Given the description of an element on the screen output the (x, y) to click on. 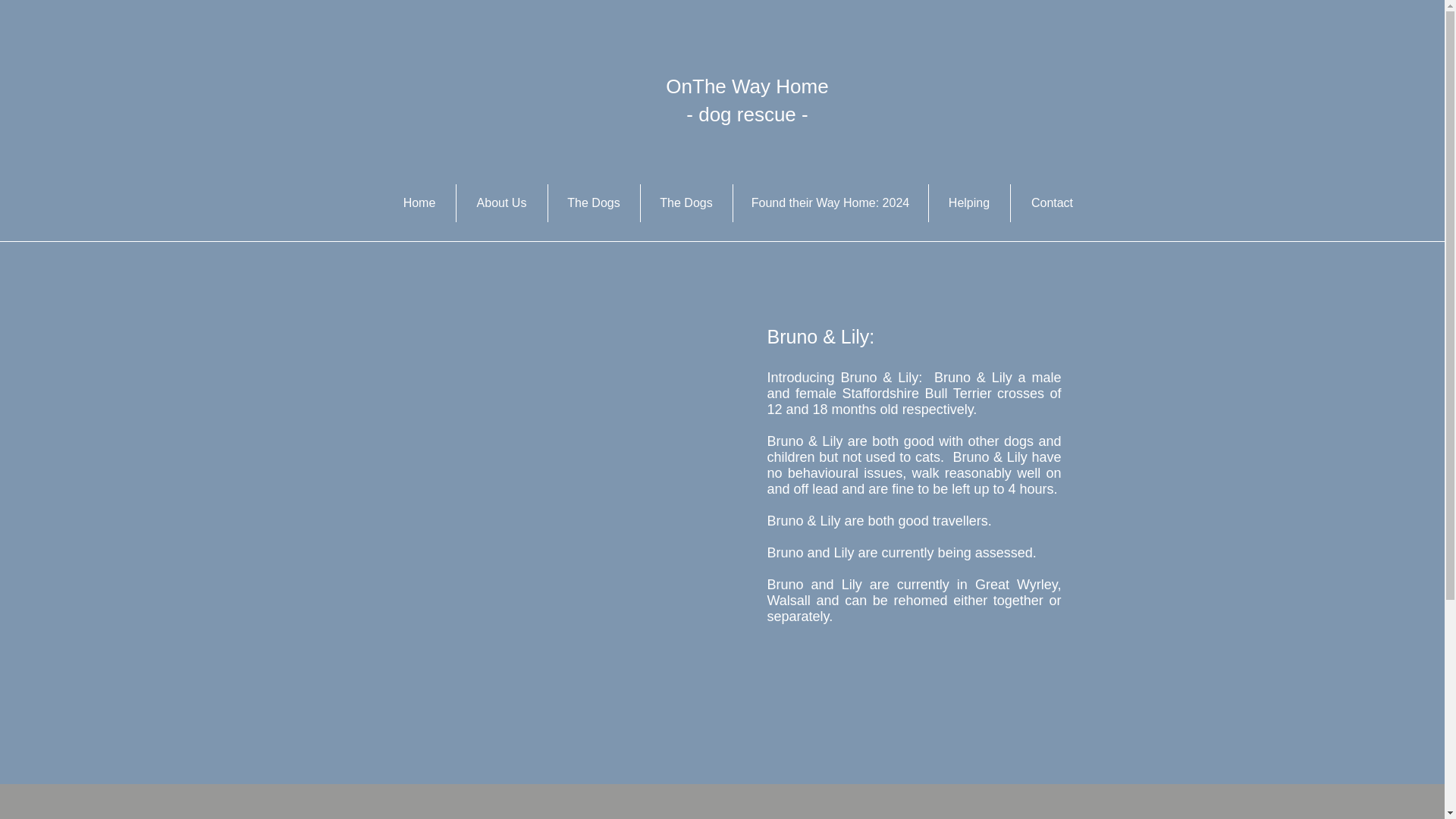
OnThe Way Home (746, 86)
About Us (502, 202)
The Dogs (686, 202)
The Dogs (593, 202)
Home (419, 202)
- dog rescue - (746, 114)
